Given the description of an element on the screen output the (x, y) to click on. 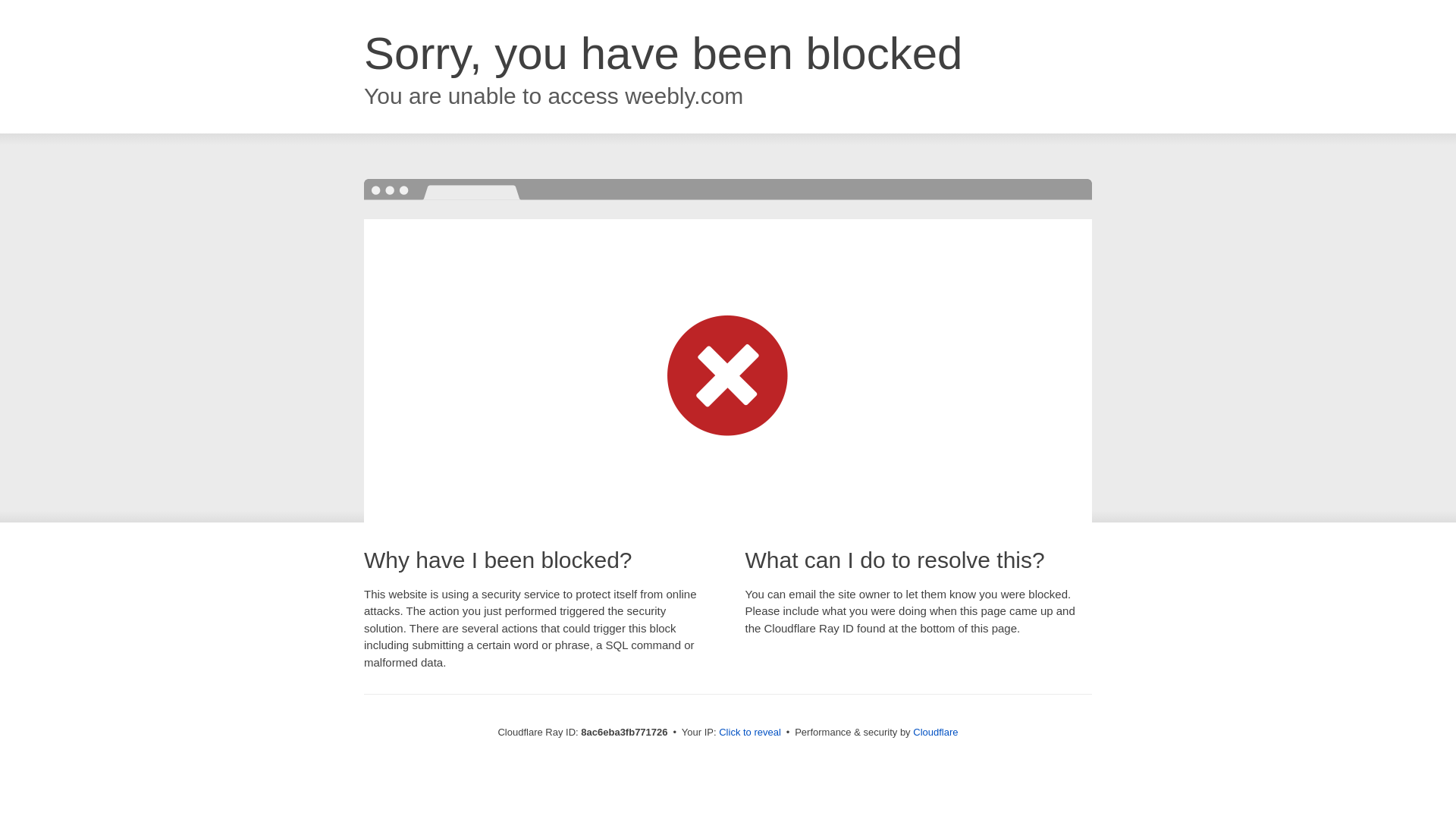
Cloudflare (935, 731)
Click to reveal (749, 732)
